Given the description of an element on the screen output the (x, y) to click on. 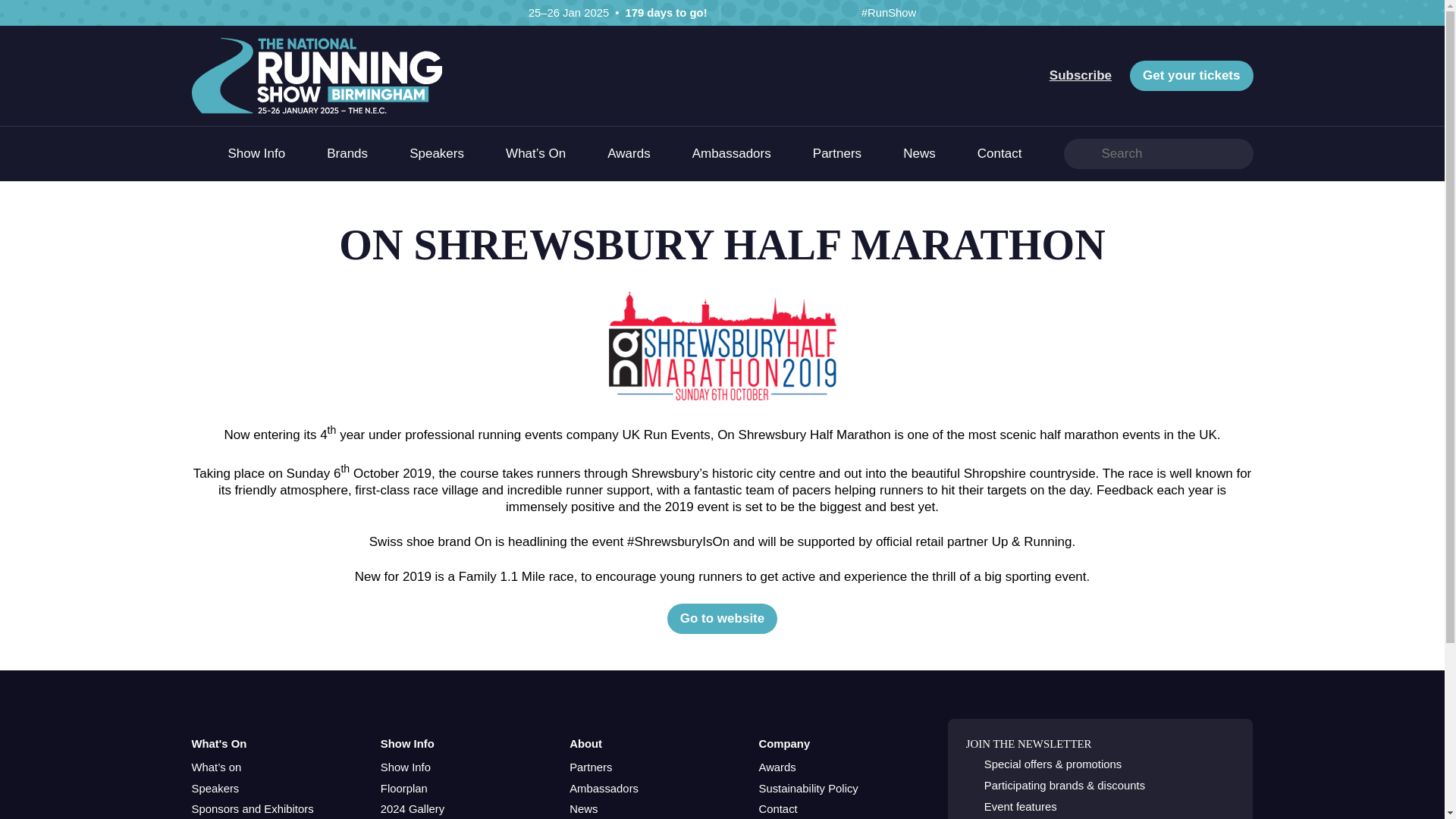
Go to website (721, 618)
Contact (777, 809)
Show Info (405, 767)
Partners (590, 767)
Partners (836, 153)
Ambassadors (732, 153)
News (582, 809)
Ambassadors (604, 789)
Brands (347, 153)
News (919, 153)
Floorplan (404, 789)
Get your tickets (1191, 75)
Speakers (436, 153)
Sustainability Policy (807, 789)
Speakers (214, 789)
